Given the description of an element on the screen output the (x, y) to click on. 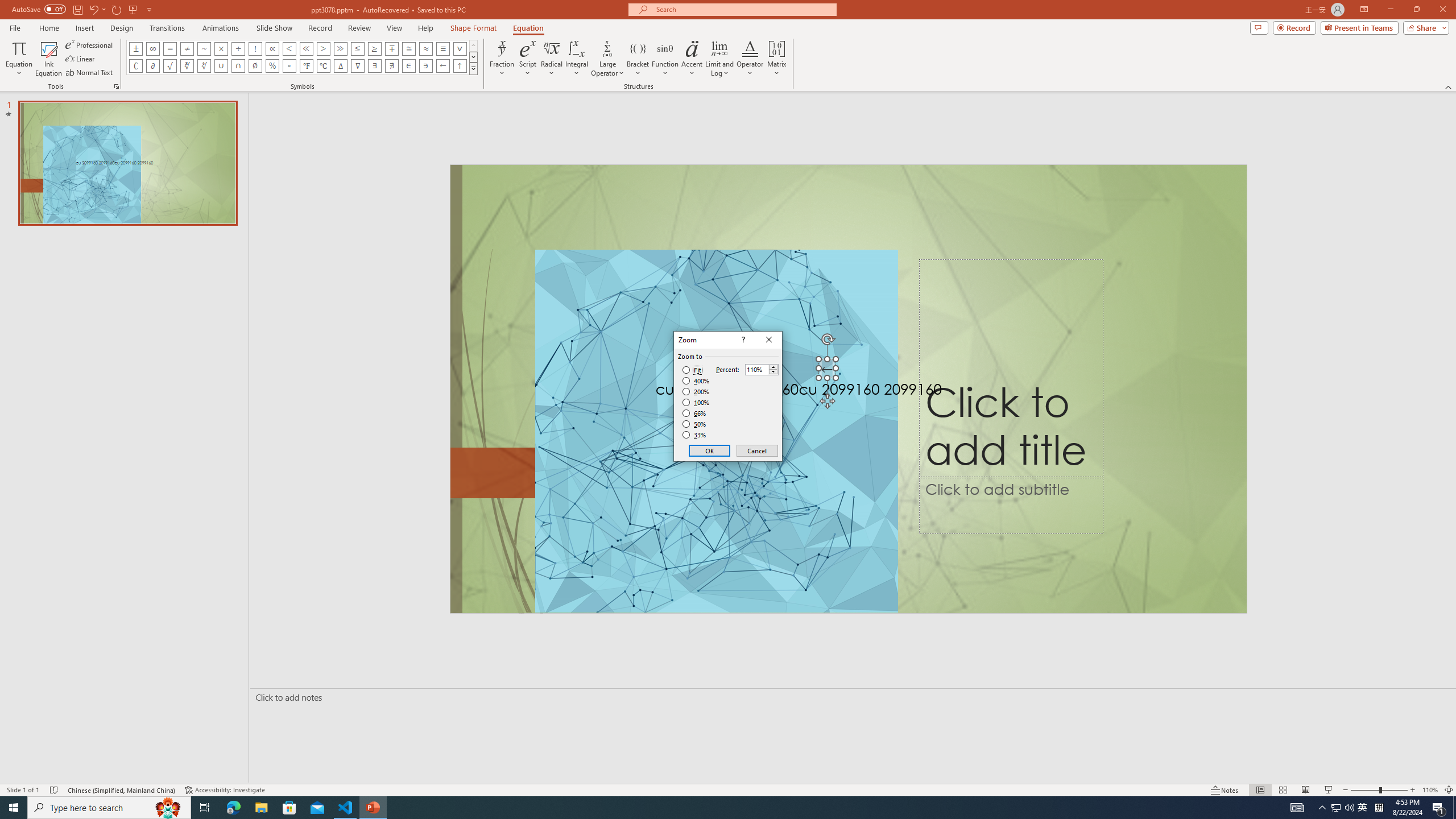
Equation Symbol Intersection (238, 65)
Ink Equation (48, 58)
Equation Symbol Greater Than (322, 48)
Less (772, 372)
Equation Symbol Less Than or Equal To (357, 48)
Equation Symbol Degrees (289, 65)
Function (664, 58)
Equation Symbol Plus Minus (136, 48)
Equation Symbol Much Greater Than (340, 48)
Large Operator (607, 58)
